Given the description of an element on the screen output the (x, y) to click on. 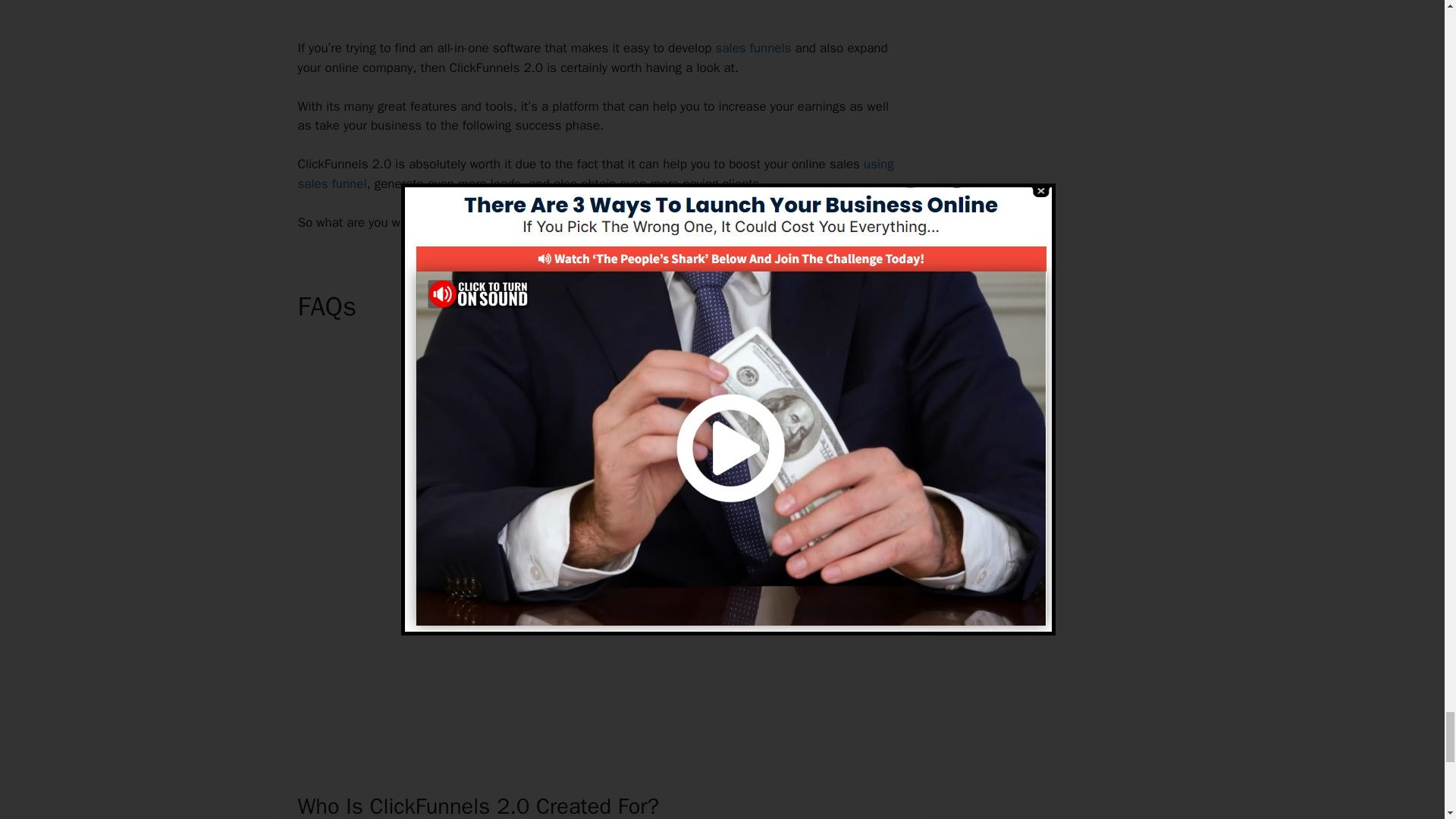
using sales funnel (595, 173)
Click Here To Test Drive ClickFunnels 2.0 Now (589, 222)
sales funnels (754, 48)
